Given the description of an element on the screen output the (x, y) to click on. 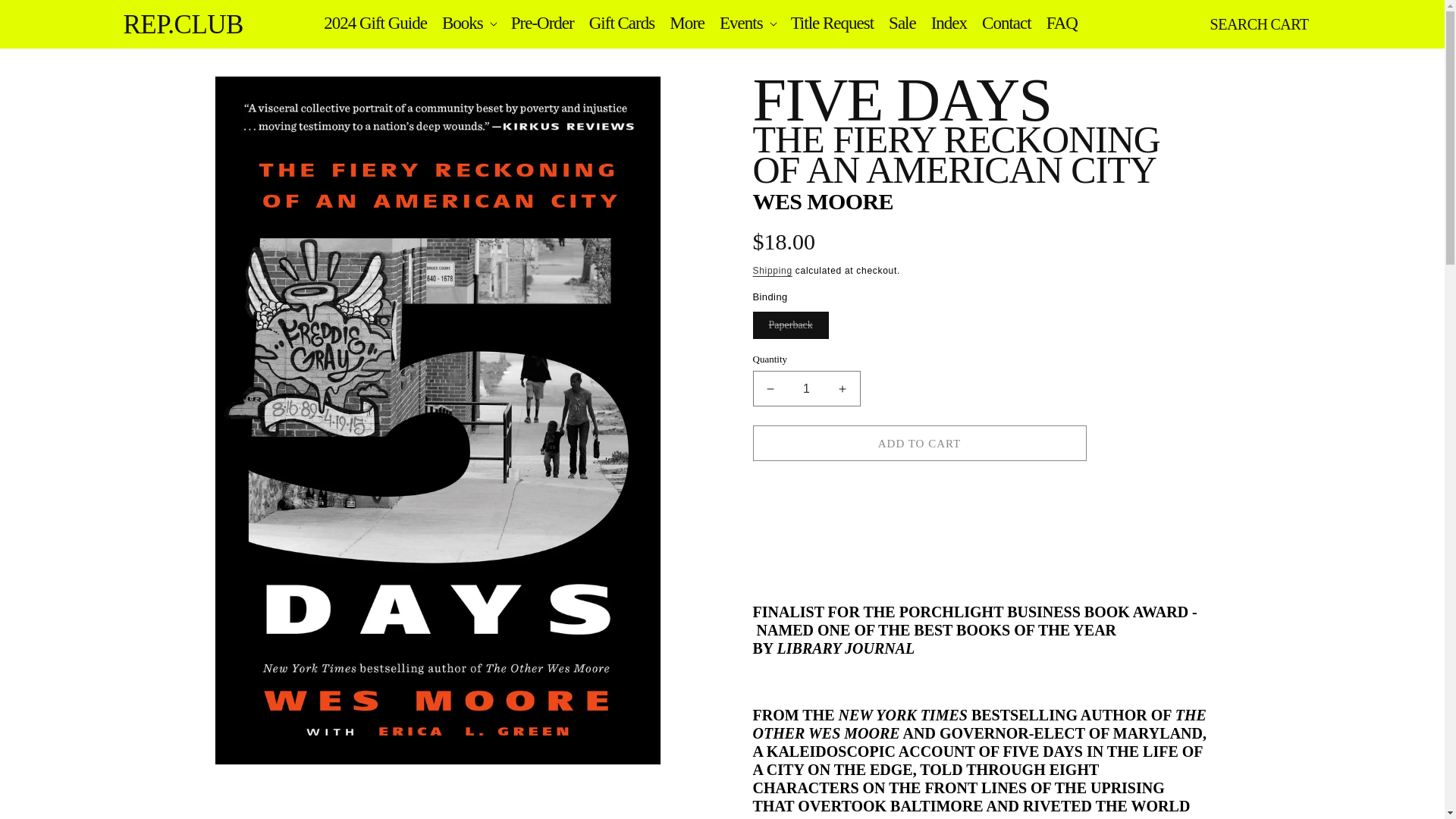
Skip to content (45, 17)
1 (806, 388)
Wes Moore (822, 201)
